Given the description of an element on the screen output the (x, y) to click on. 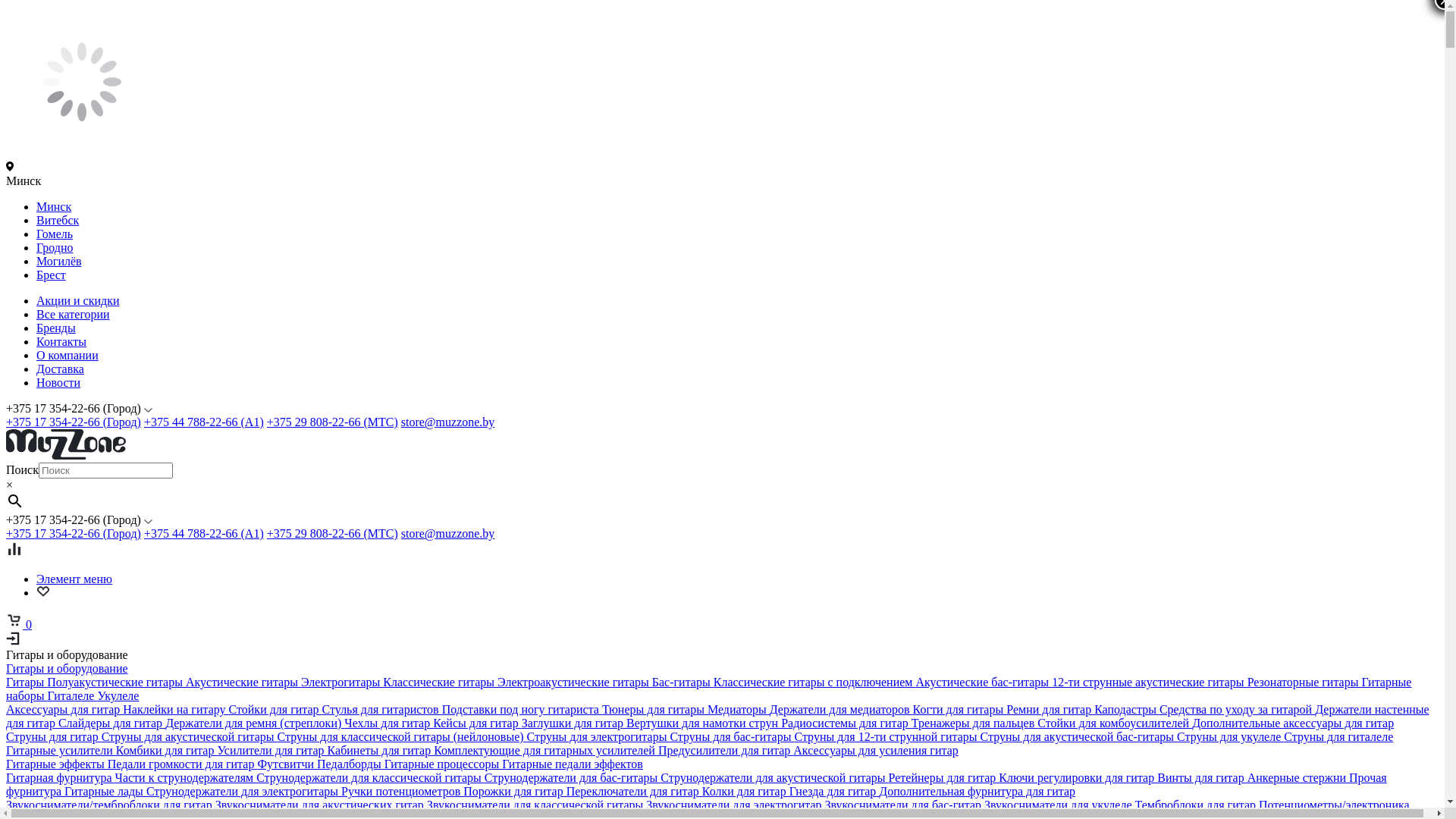
0 Element type: text (18, 624)
+375 44 788-22-66 (A1) Element type: text (203, 421)
+375 44 788-22-66 (A1) Element type: text (203, 533)
store@muzzone.by Element type: text (448, 421)
store@muzzone.by Element type: text (448, 533)
